Given the description of an element on the screen output the (x, y) to click on. 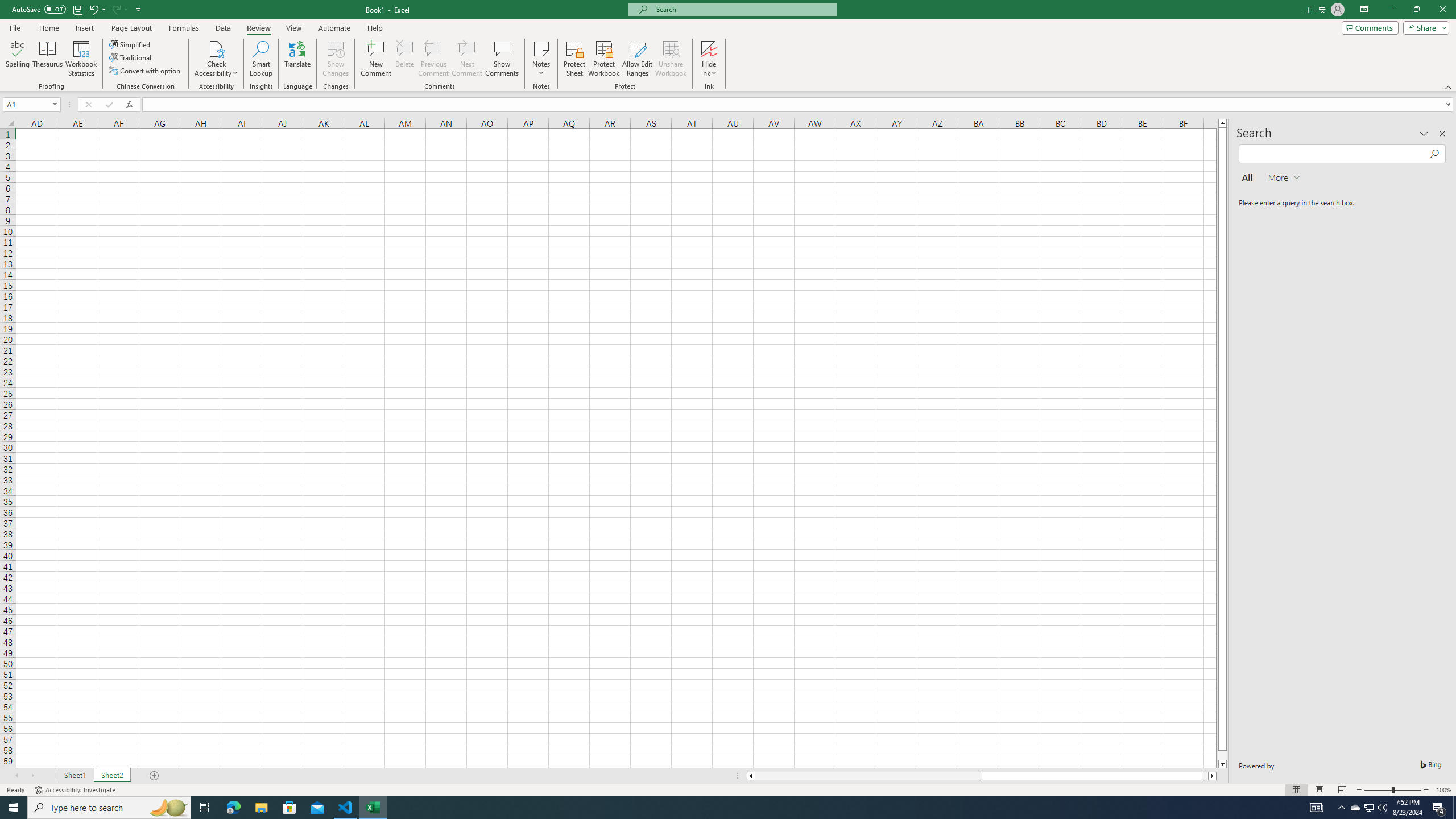
Show Comments (501, 58)
Accessibility Checker Accessibility: Investigate (76, 790)
Smart Lookup (260, 58)
